Given the description of an element on the screen output the (x, y) to click on. 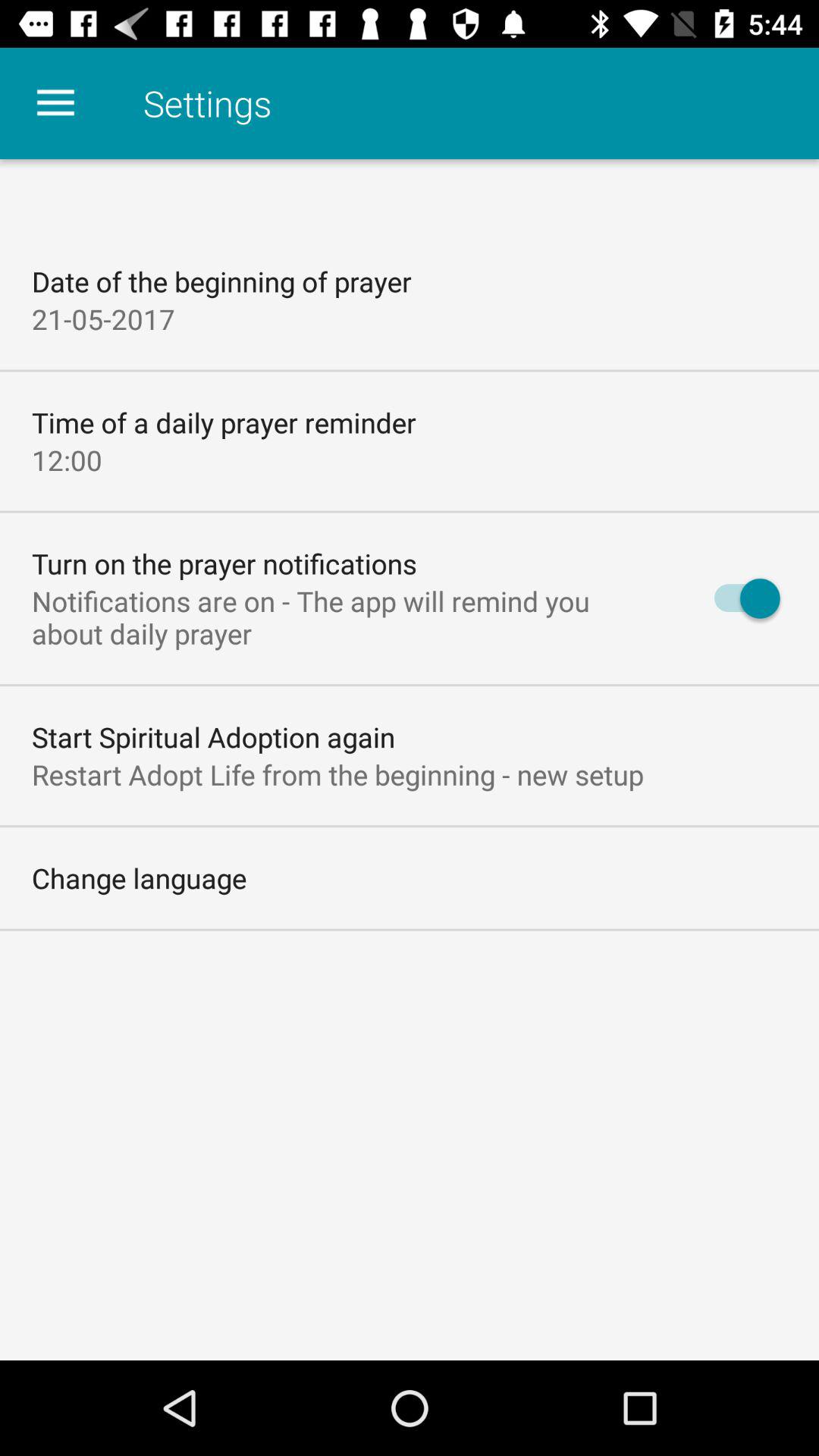
turn on the item below 21-05-2017 (223, 422)
